Given the description of an element on the screen output the (x, y) to click on. 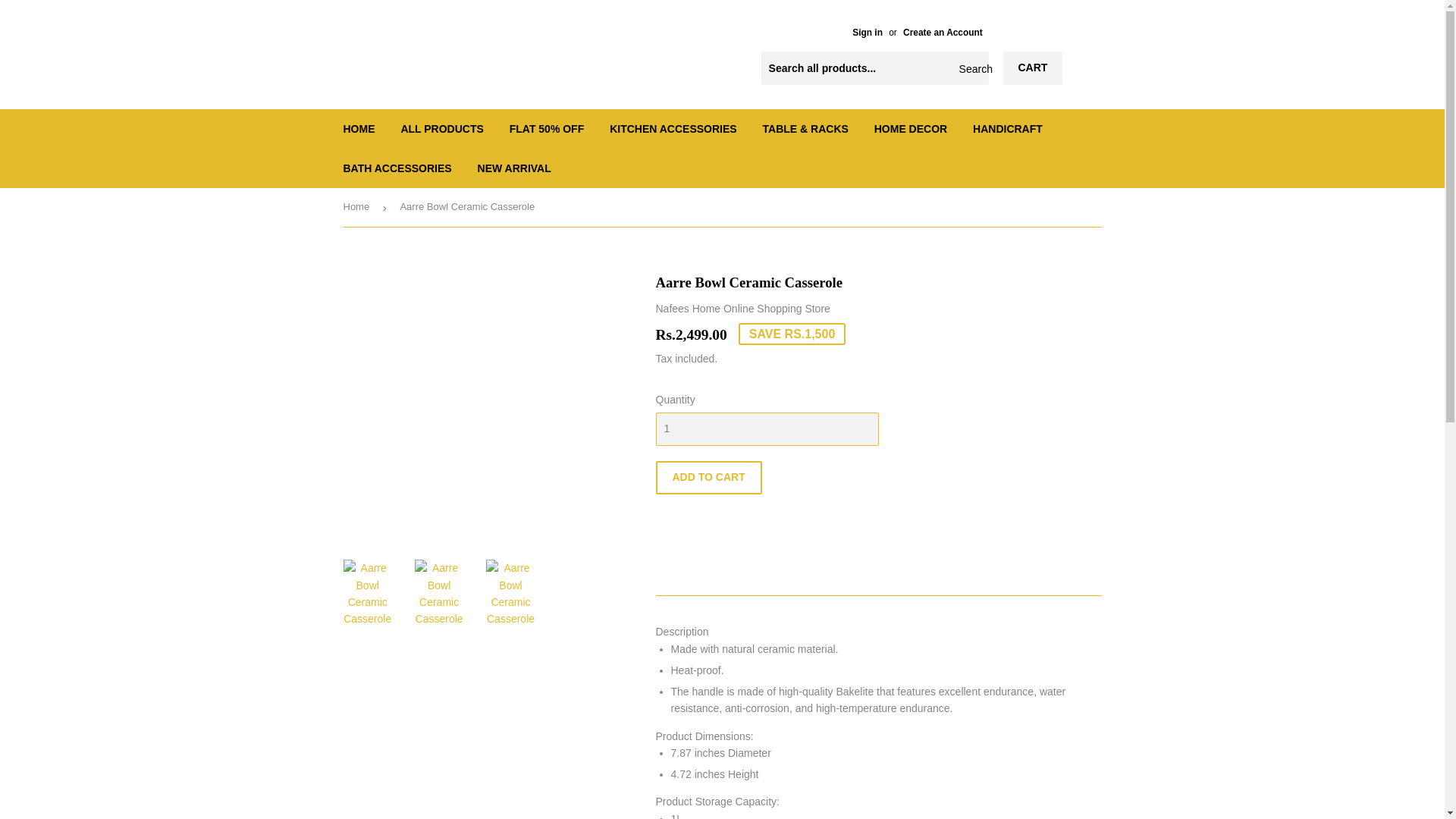
Sign in (866, 32)
ALL PRODUCTS (441, 128)
Search (971, 69)
HOME (359, 128)
KITCHEN ACCESSORIES (673, 128)
1 (766, 428)
Create an Account (942, 32)
CART (1032, 68)
